Given the description of an element on the screen output the (x, y) to click on. 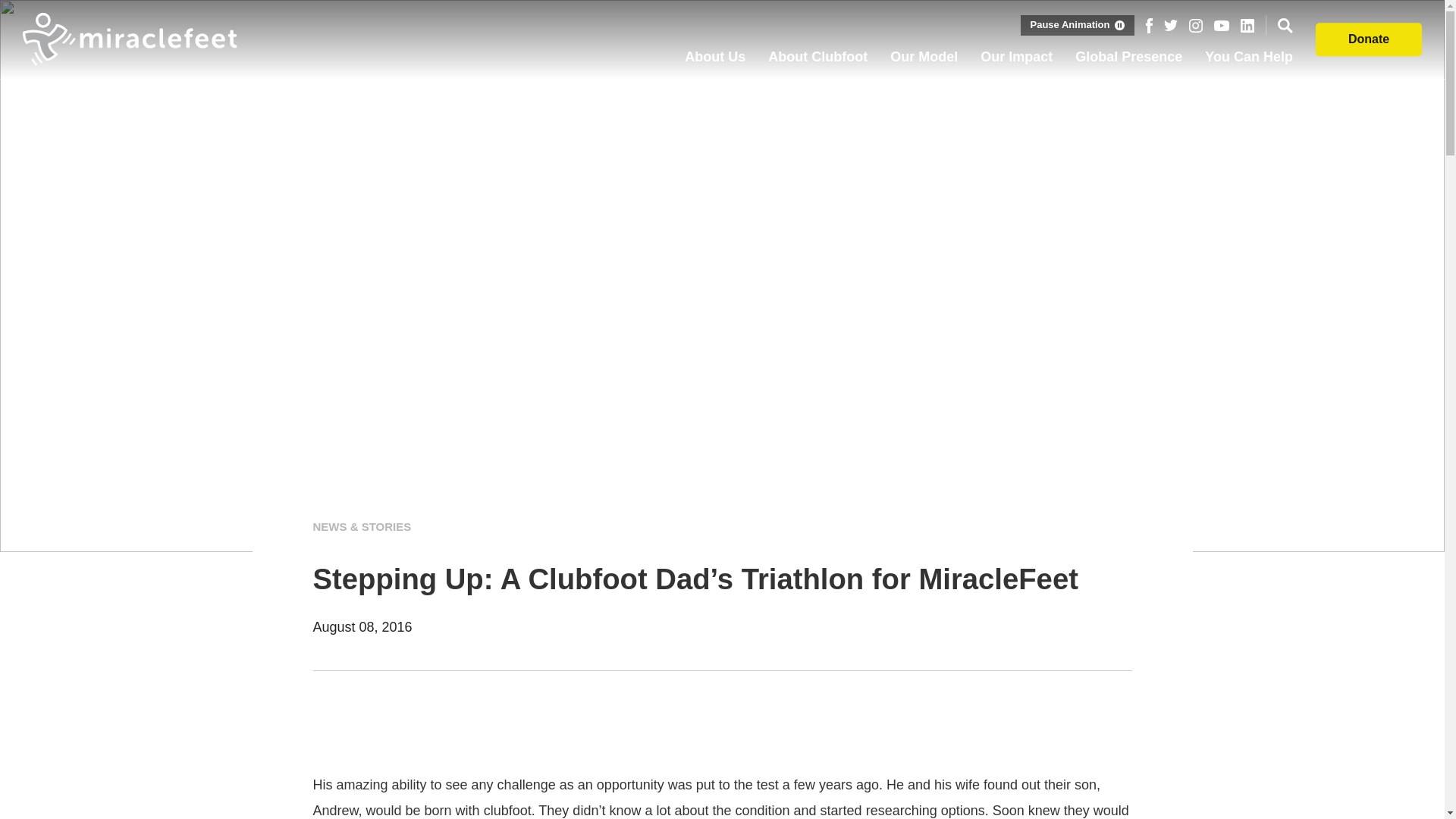
Search (1285, 25)
